Given the description of an element on the screen output the (x, y) to click on. 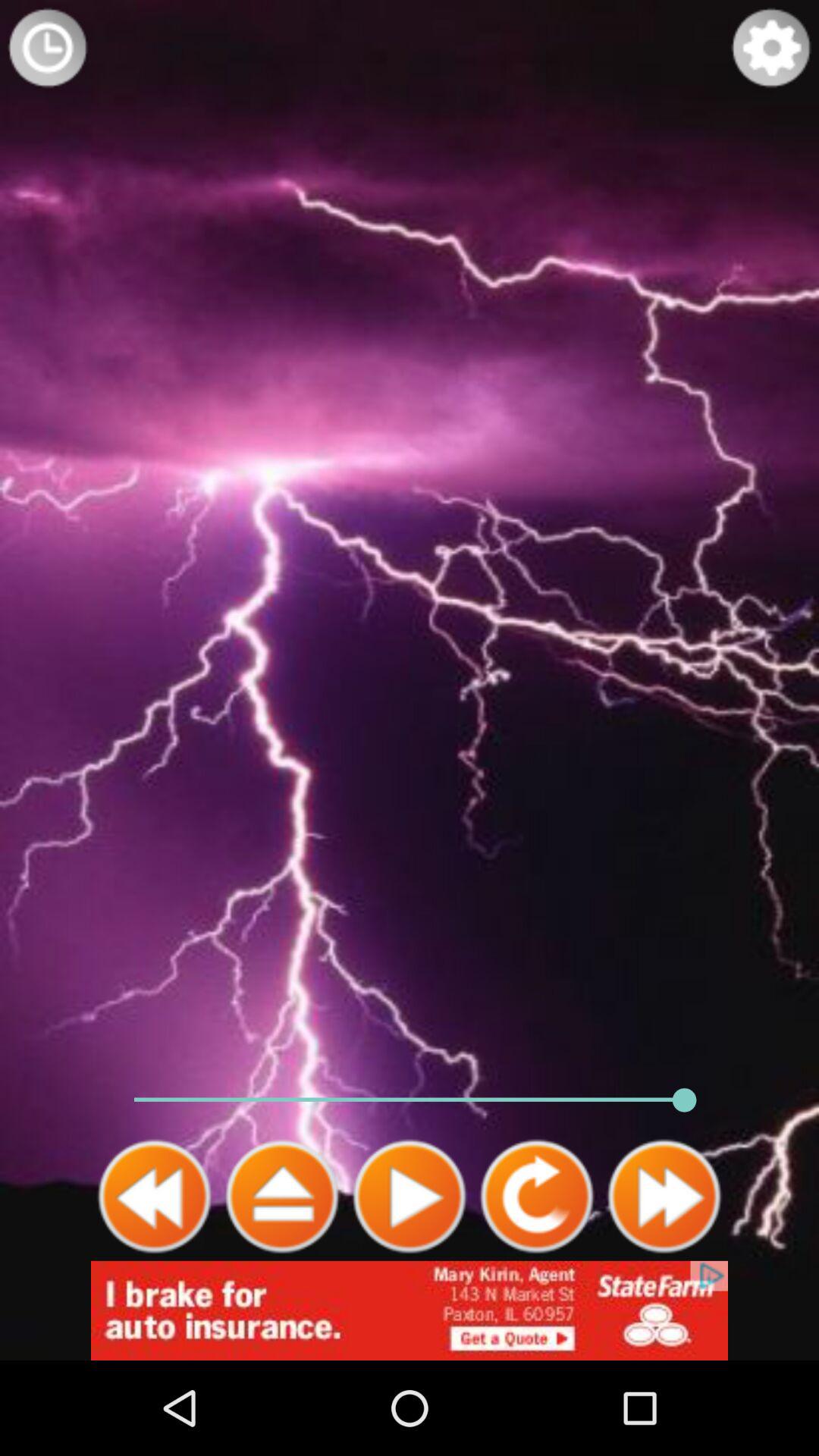
play the backward button (154, 1196)
